Given the description of an element on the screen output the (x, y) to click on. 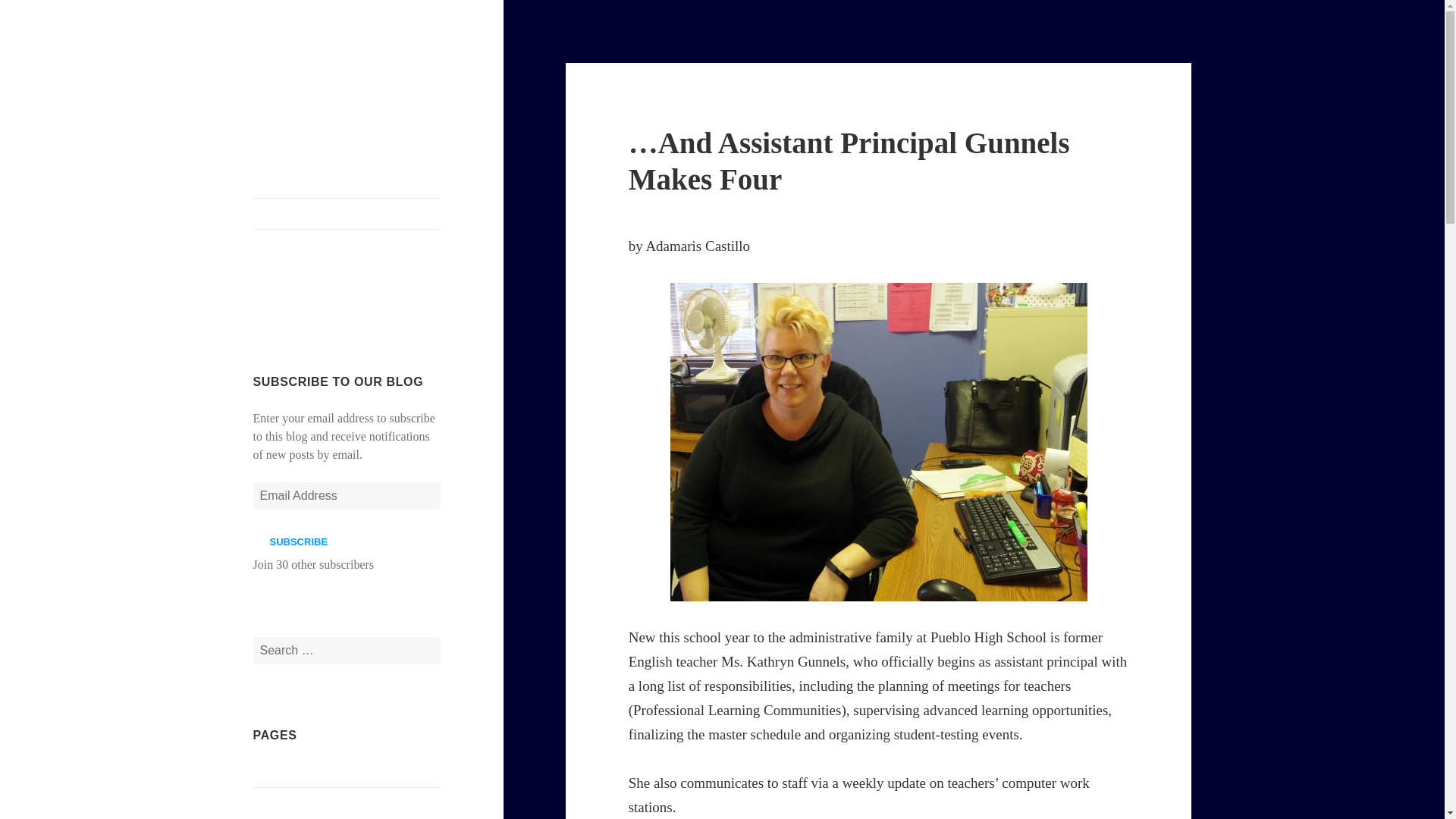
Pueblo High School (312, 86)
Purpose (272, 801)
Instagram (307, 310)
YouTube (347, 310)
SUBSCRIBE (299, 541)
El Guerrero (282, 771)
Twitter (383, 310)
www.pueblowarriors.org (347, 214)
Facebook (271, 310)
